Given the description of an element on the screen output the (x, y) to click on. 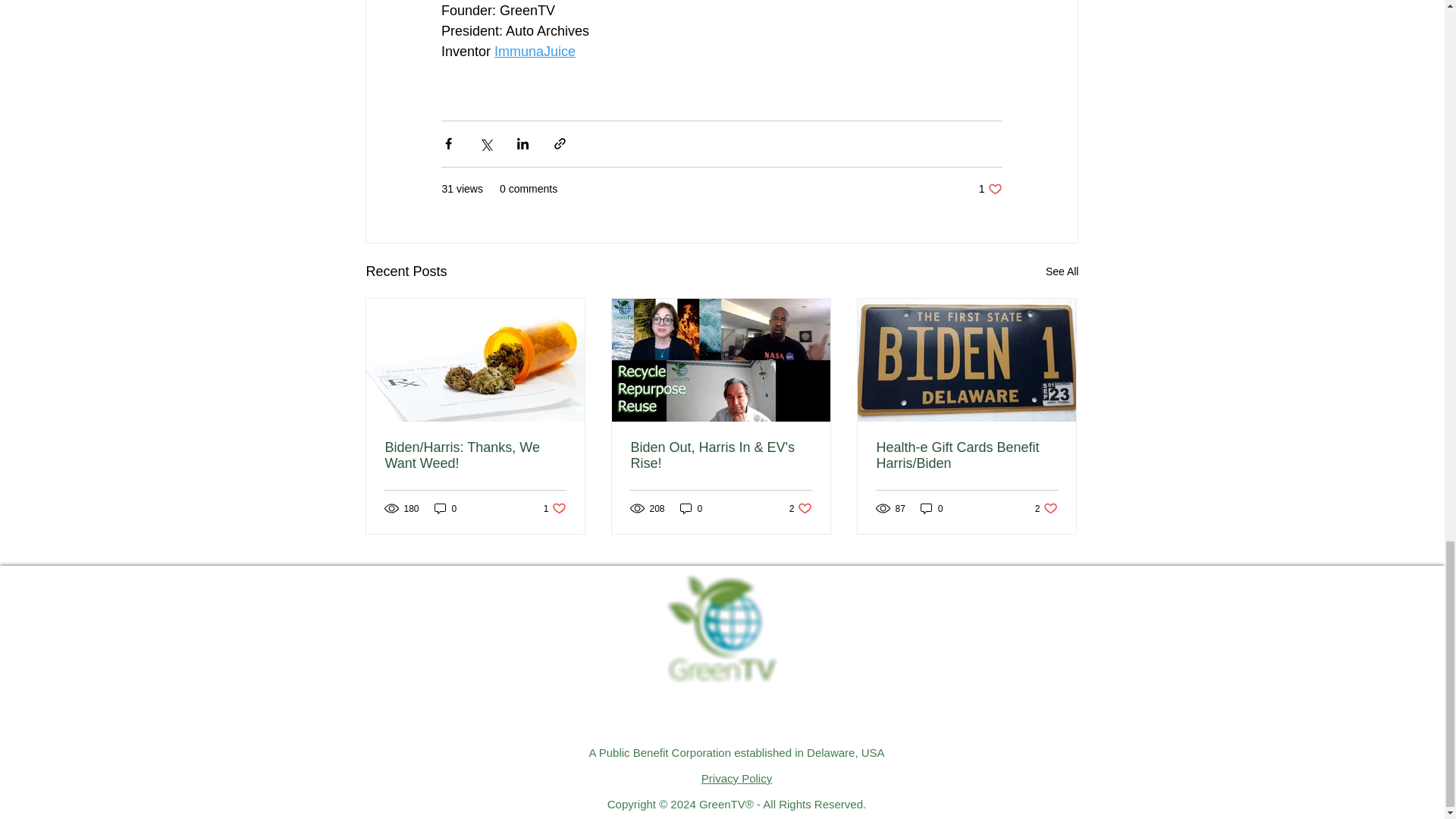
See All (1061, 271)
ImmunaJuice (535, 51)
